Given the description of an element on the screen output the (x, y) to click on. 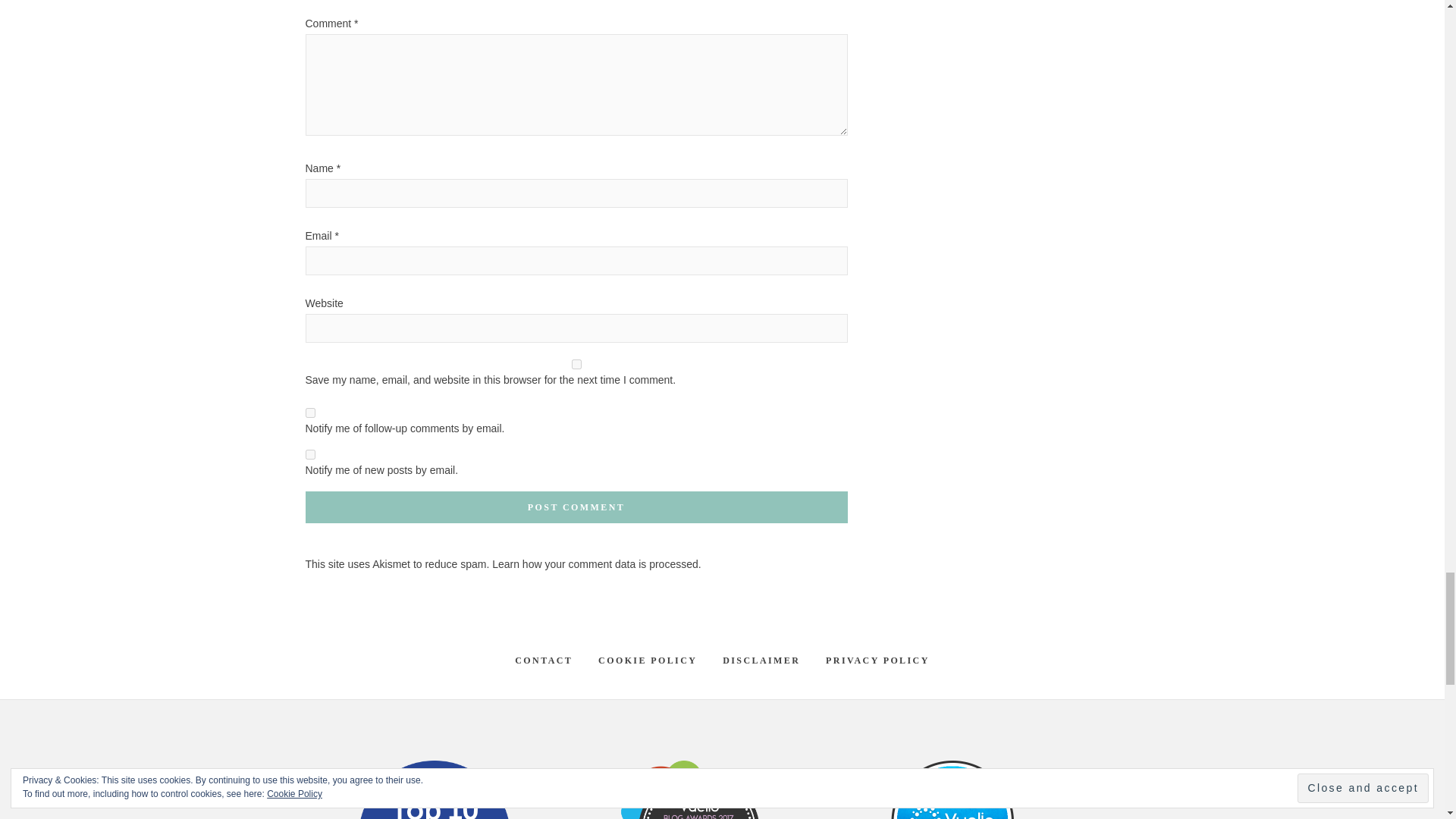
subscribe (309, 412)
Post Comment (575, 507)
Post Comment (575, 507)
yes (575, 364)
subscribe (309, 454)
